Given the description of an element on the screen output the (x, y) to click on. 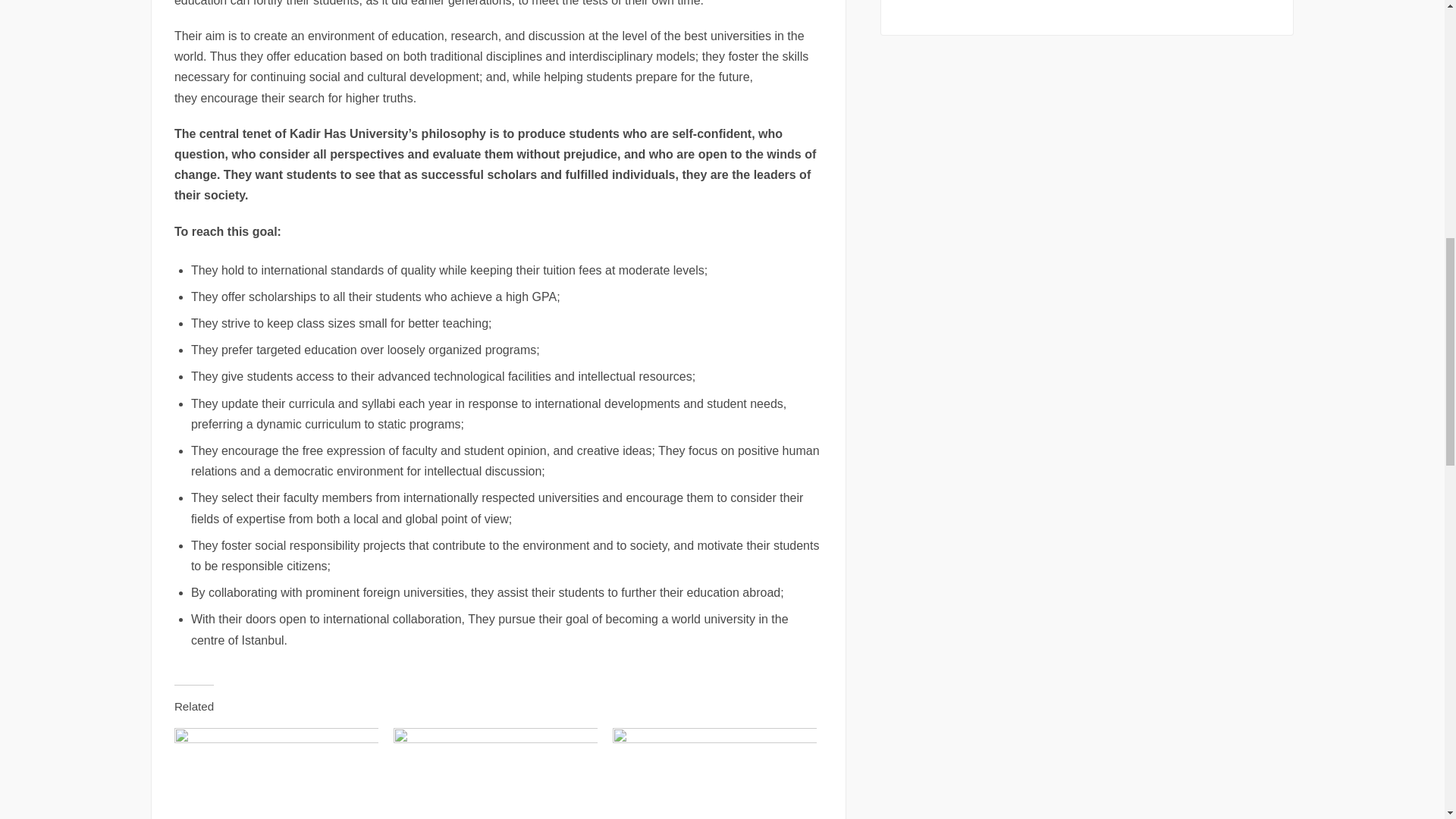
Bezmialem Waqf University (714, 773)
